Given the description of an element on the screen output the (x, y) to click on. 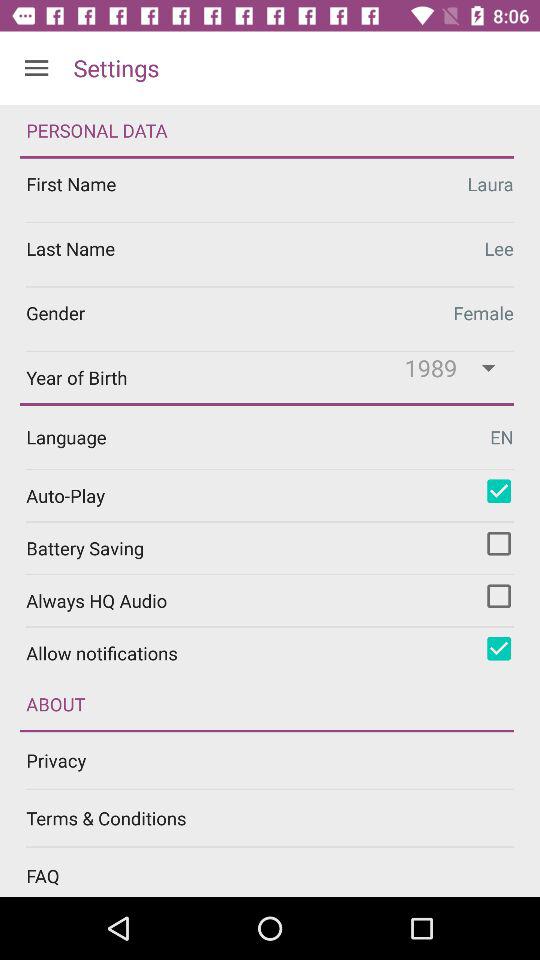
select gender (270, 318)
